Given the description of an element on the screen output the (x, y) to click on. 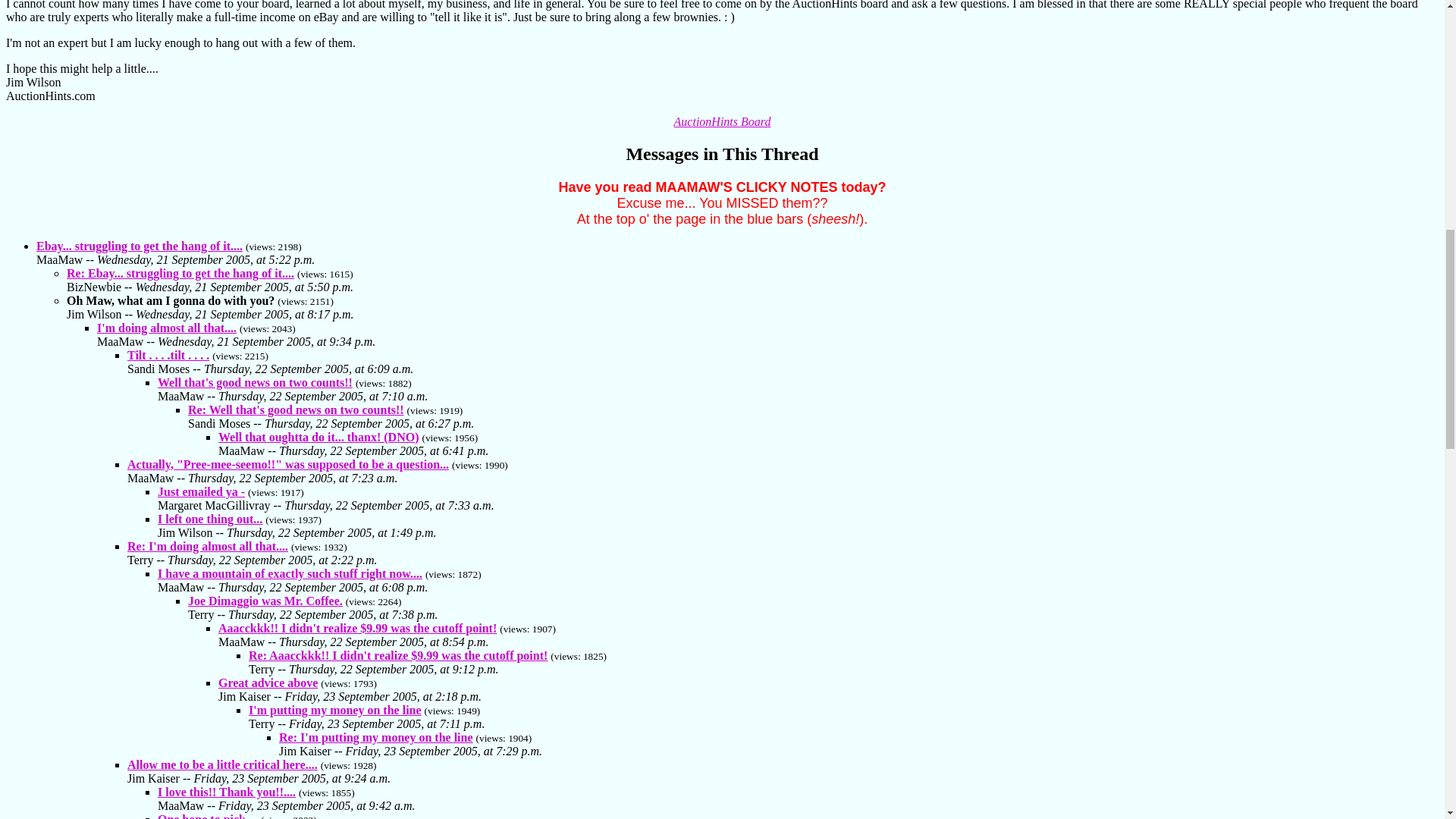
I love this!! Thank you!!.... (226, 791)
Well that's good news on two counts!! (254, 382)
One bone to pick.... (207, 816)
Great advice above (267, 682)
Re: I'm doing almost all that.... (208, 545)
Re: Well that's good news on two counts!! (295, 409)
Ebay... struggling to get the hang of it.... (139, 245)
I left one thing out... (209, 518)
Tilt . . . .tilt . . . . (168, 354)
Just emailed ya - (200, 491)
Allow me to be a little critical here.... (222, 764)
I'm putting my money on the line (335, 709)
Re: I'm putting my money on the line (376, 737)
I have a mountain of exactly such stuff right now.... (289, 573)
Joe Dimaggio was Mr. Coffee. (264, 600)
